Given the description of an element on the screen output the (x, y) to click on. 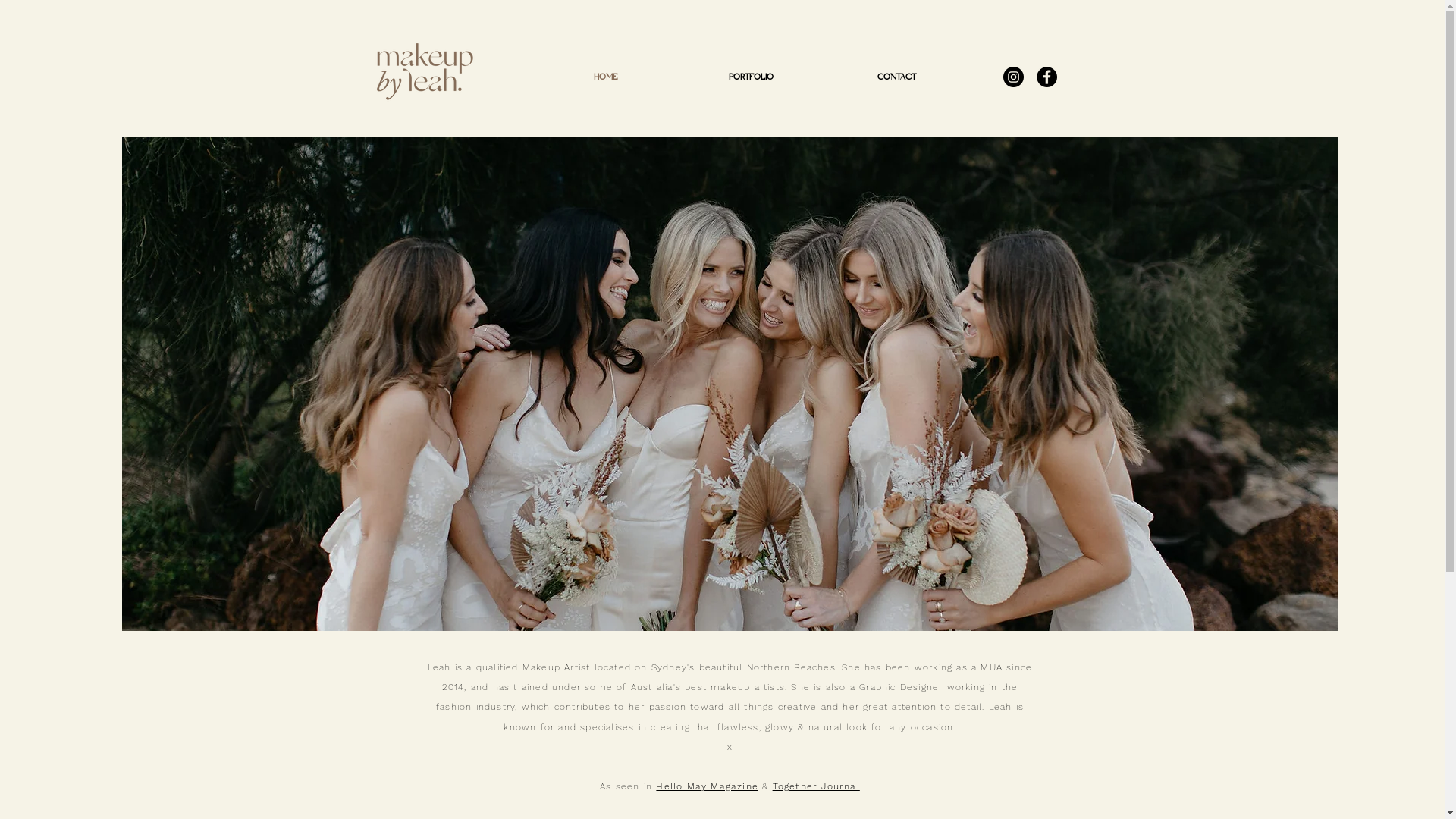
Together Journal Element type: text (815, 786)
Hello May Magazine Element type: text (706, 786)
CONTACT Element type: text (896, 77)
PORTFOLIO Element type: text (750, 77)
HOME Element type: text (604, 77)
